Given the description of an element on the screen output the (x, y) to click on. 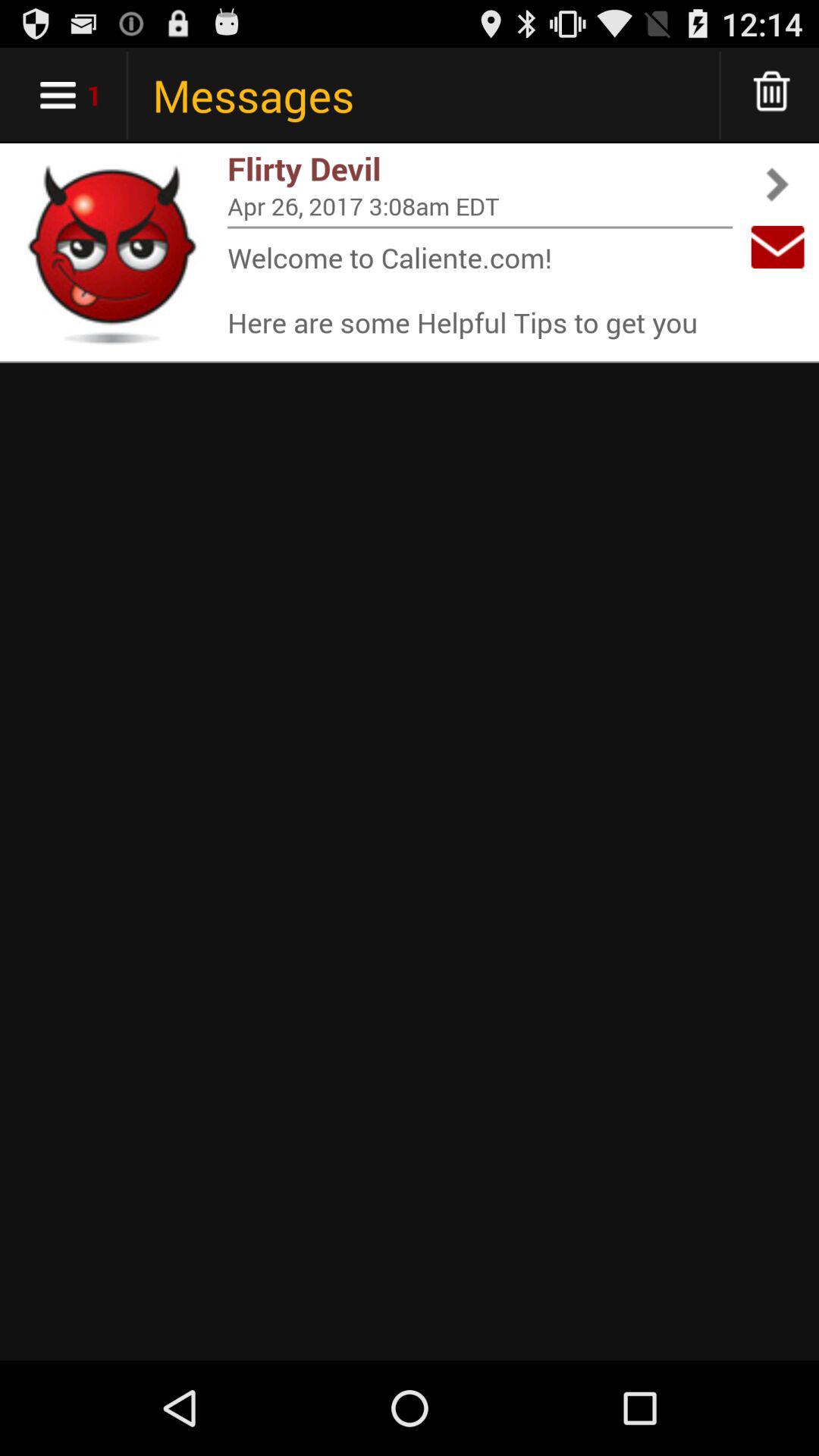
turn off the apr 26 2017 item (479, 205)
